Given the description of an element on the screen output the (x, y) to click on. 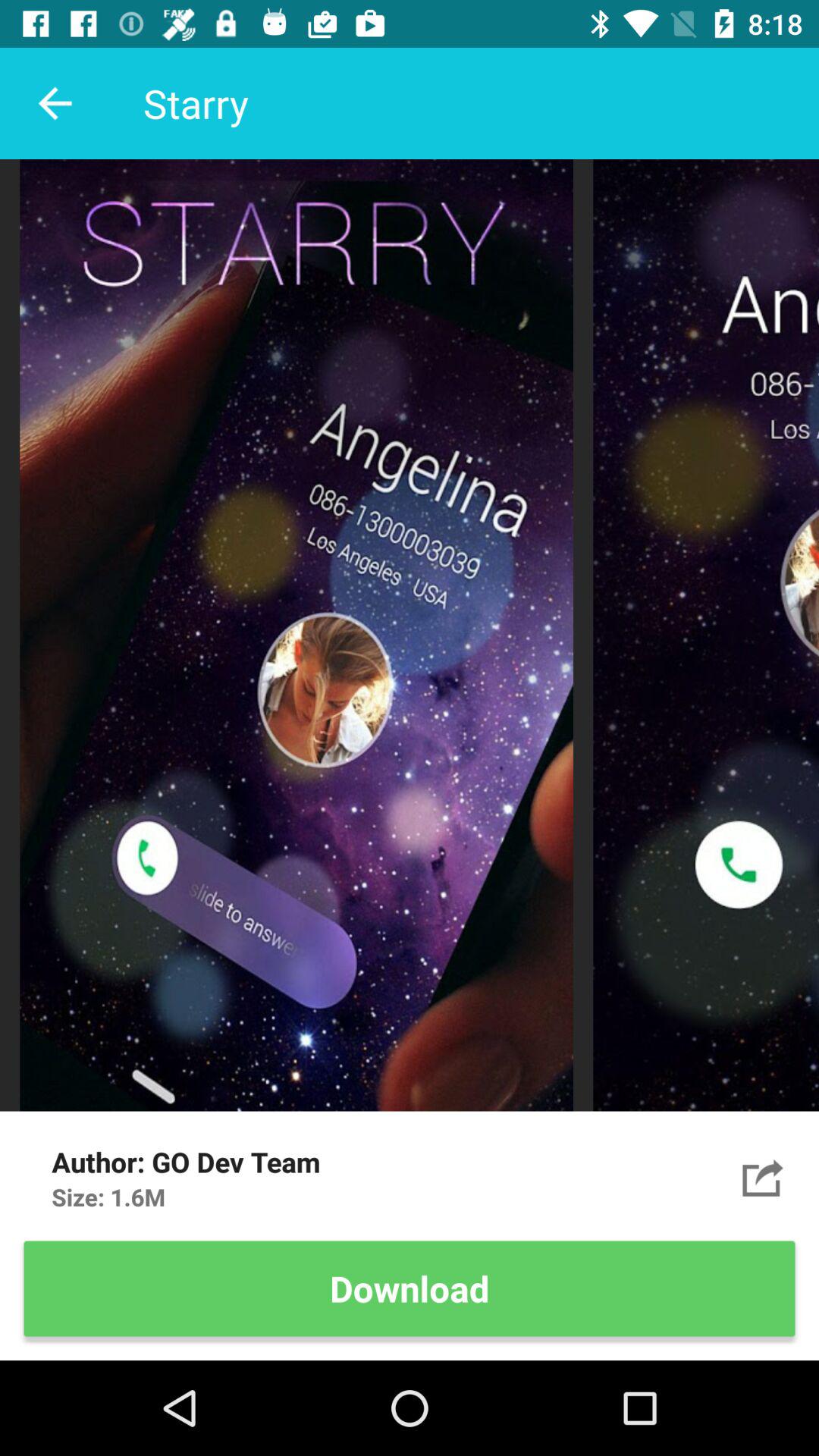
scroll to the download icon (409, 1288)
